Given the description of an element on the screen output the (x, y) to click on. 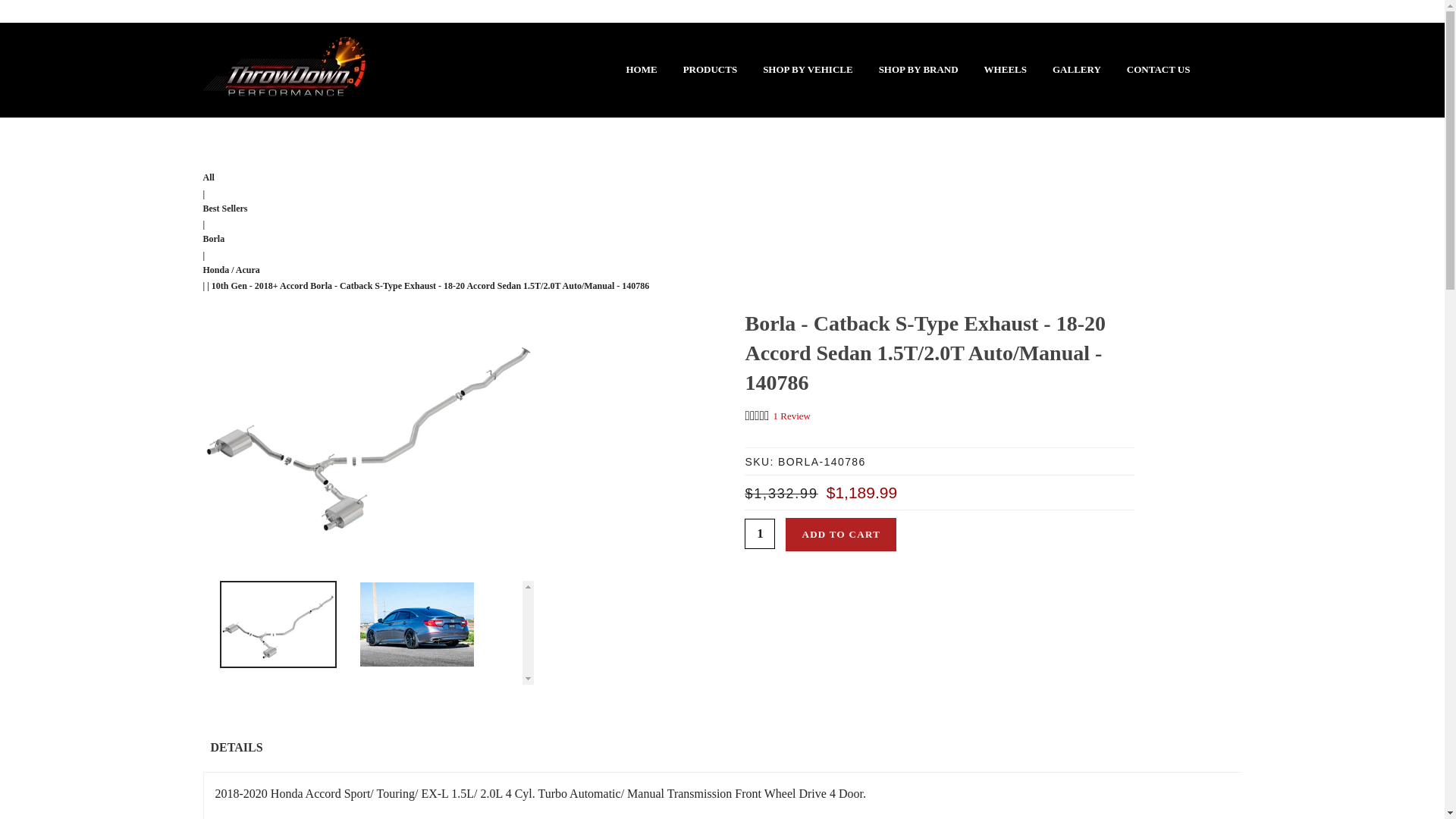
CONTACT US (1158, 69)
1 (759, 533)
HOME (641, 69)
SHOP BY VEHICLE (806, 69)
SHOP BY BRAND (918, 69)
PRODUCTS (710, 69)
GALLERY (1076, 69)
WHEELS (1005, 69)
